Given the description of an element on the screen output the (x, y) to click on. 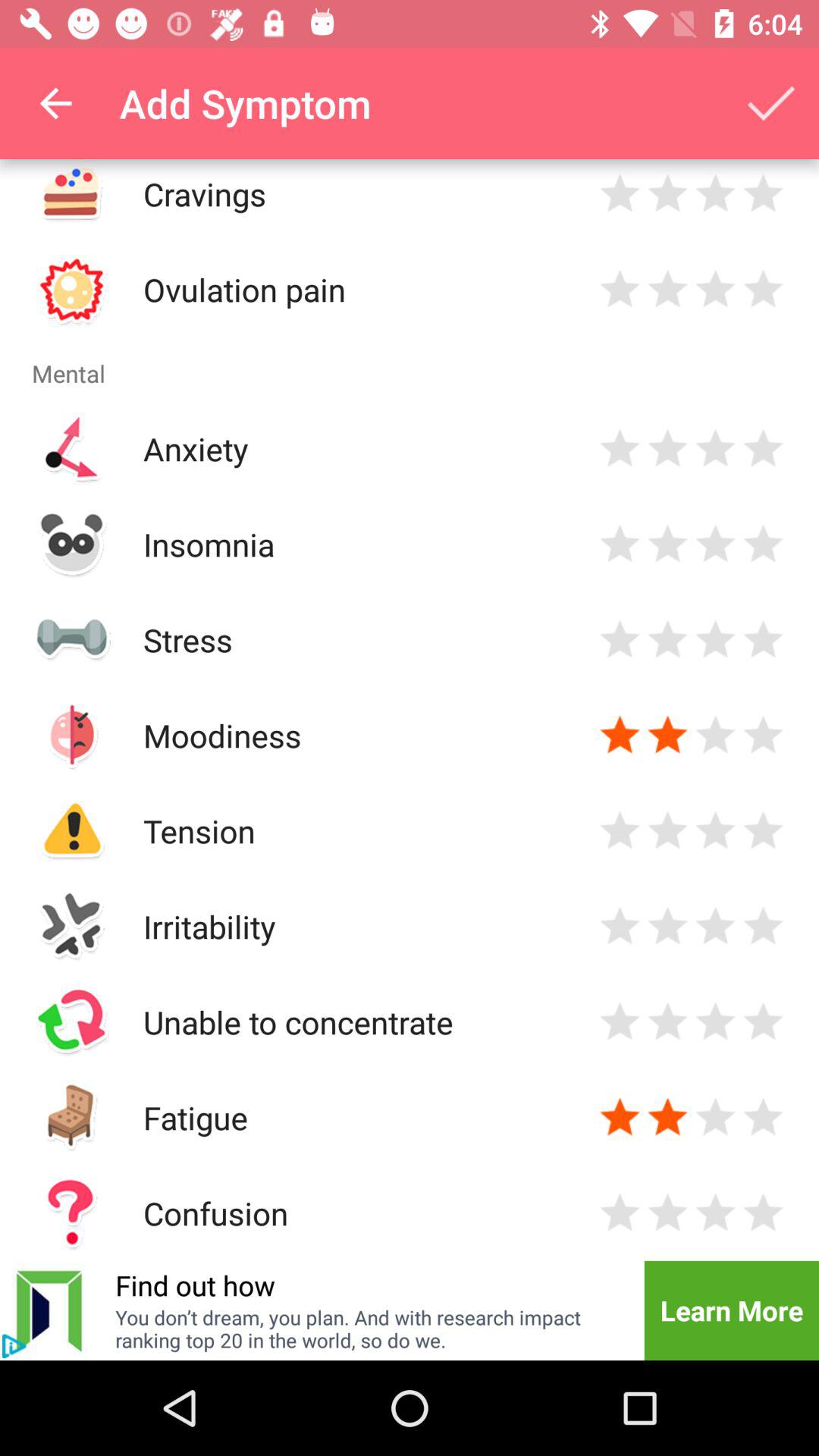
select to rate with one star (619, 289)
